Given the description of an element on the screen output the (x, y) to click on. 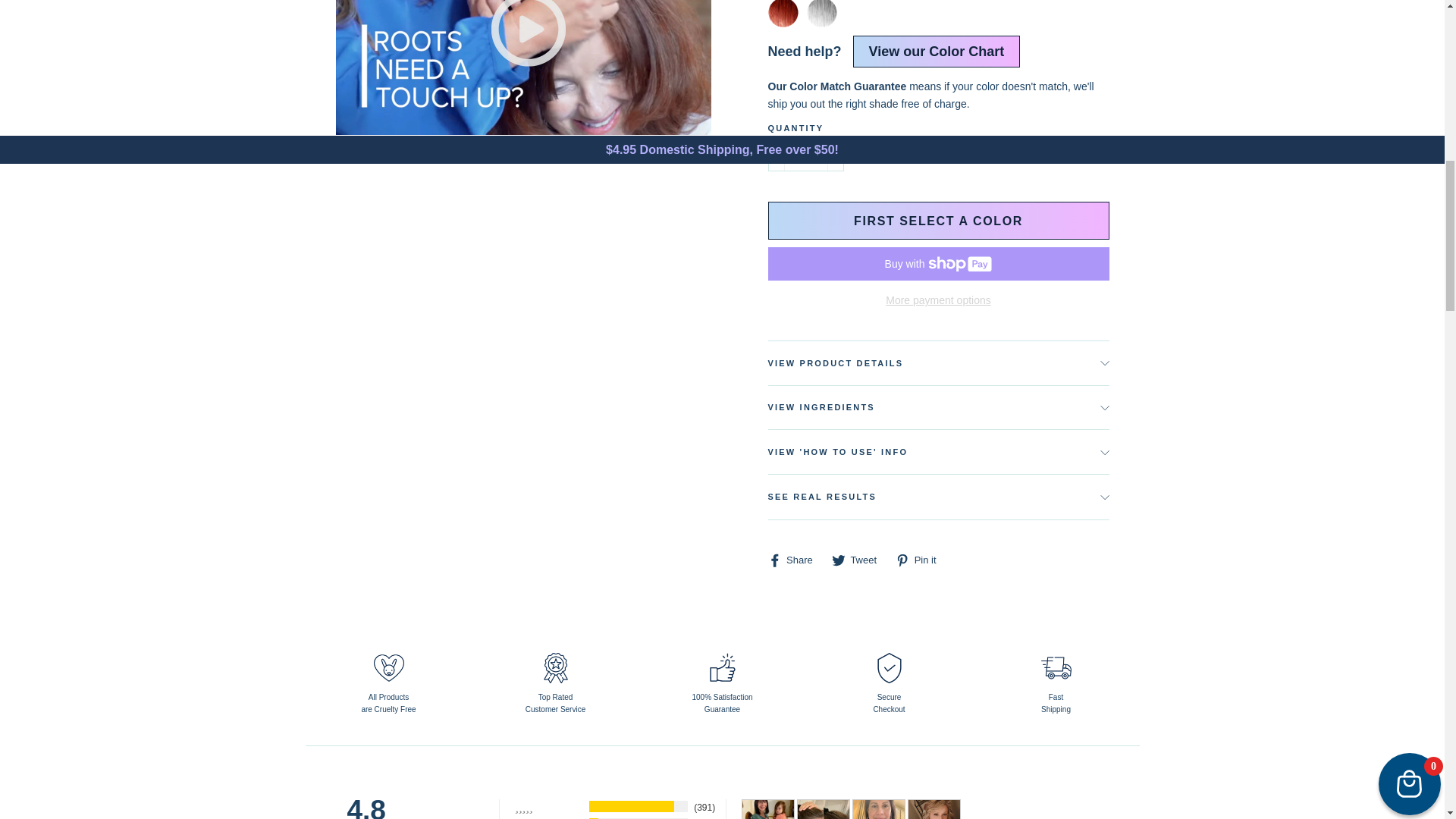
Pin on Pinterest (921, 559)
Tweet on Twitter (859, 559)
1 (805, 155)
FIRST SELECT A COLOR (937, 220)
View our Color Chart (936, 51)
Share on Facebook (795, 559)
More payment options (937, 300)
